Given the description of an element on the screen output the (x, y) to click on. 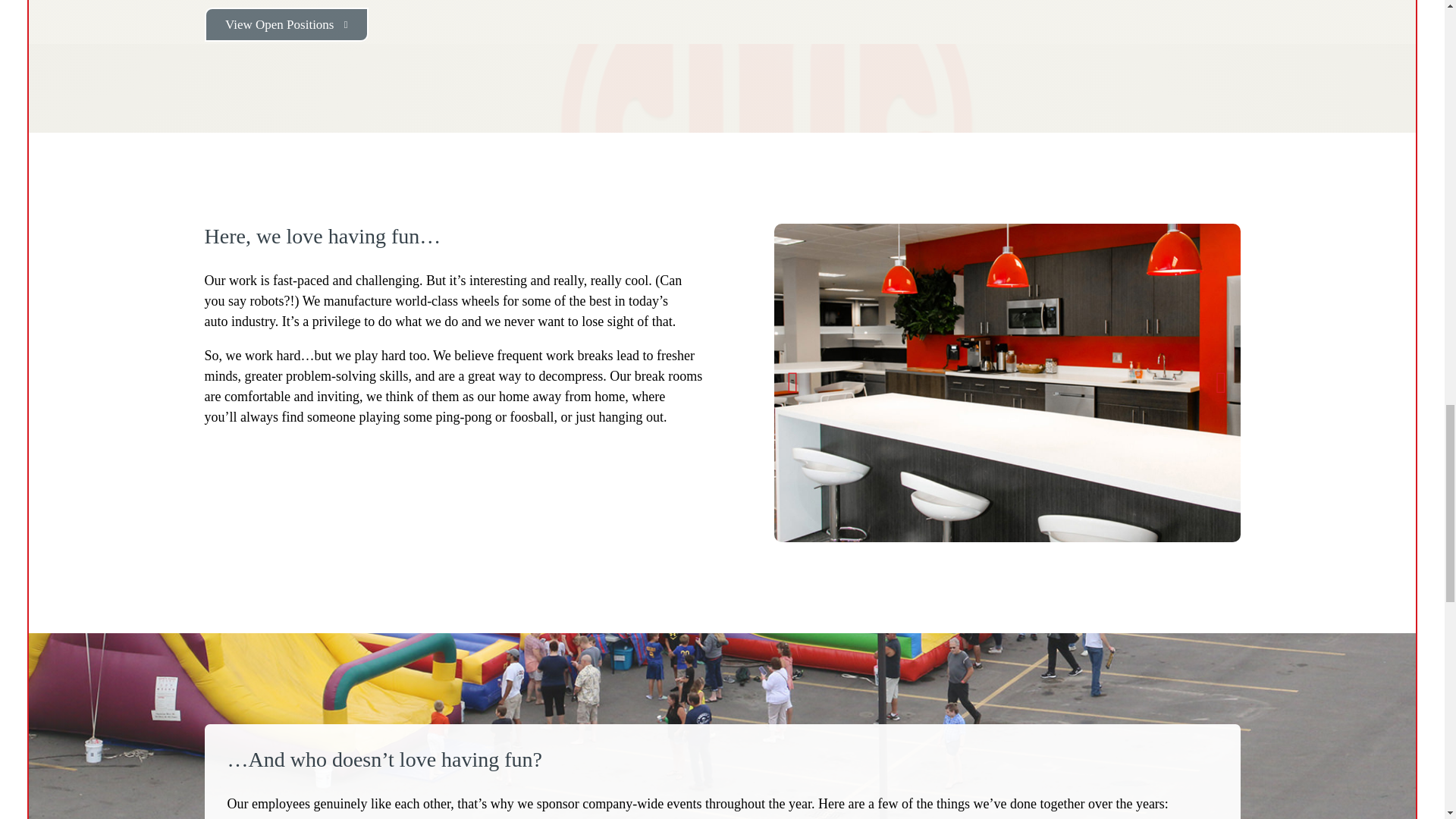
View Open Positions (286, 24)
